Given the description of an element on the screen output the (x, y) to click on. 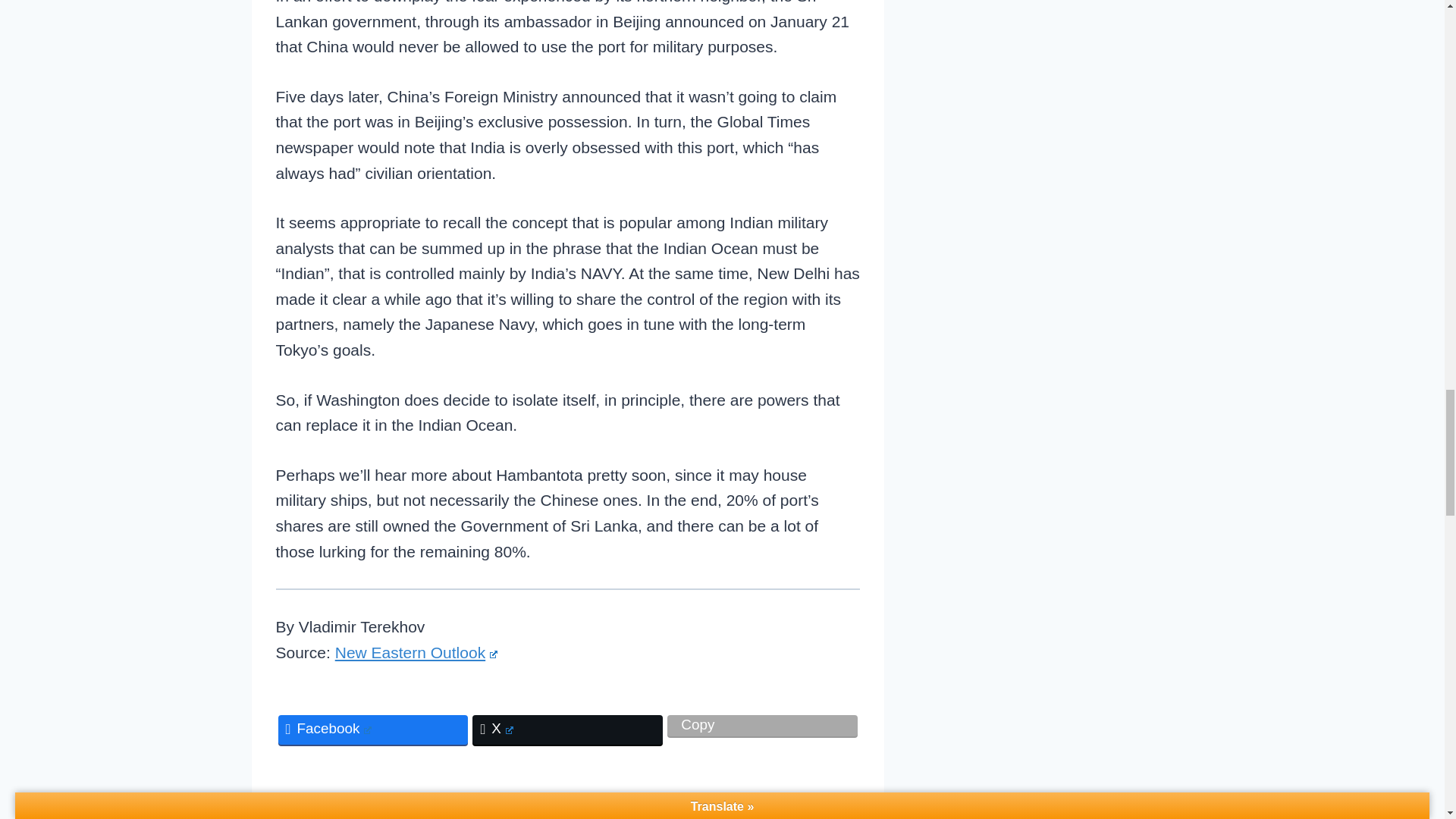
China (304, 806)
Copy (761, 725)
New Eastern Outlook (415, 651)
India (364, 806)
Facebook (372, 729)
Sri Lanka (435, 806)
X (566, 729)
